Given the description of an element on the screen output the (x, y) to click on. 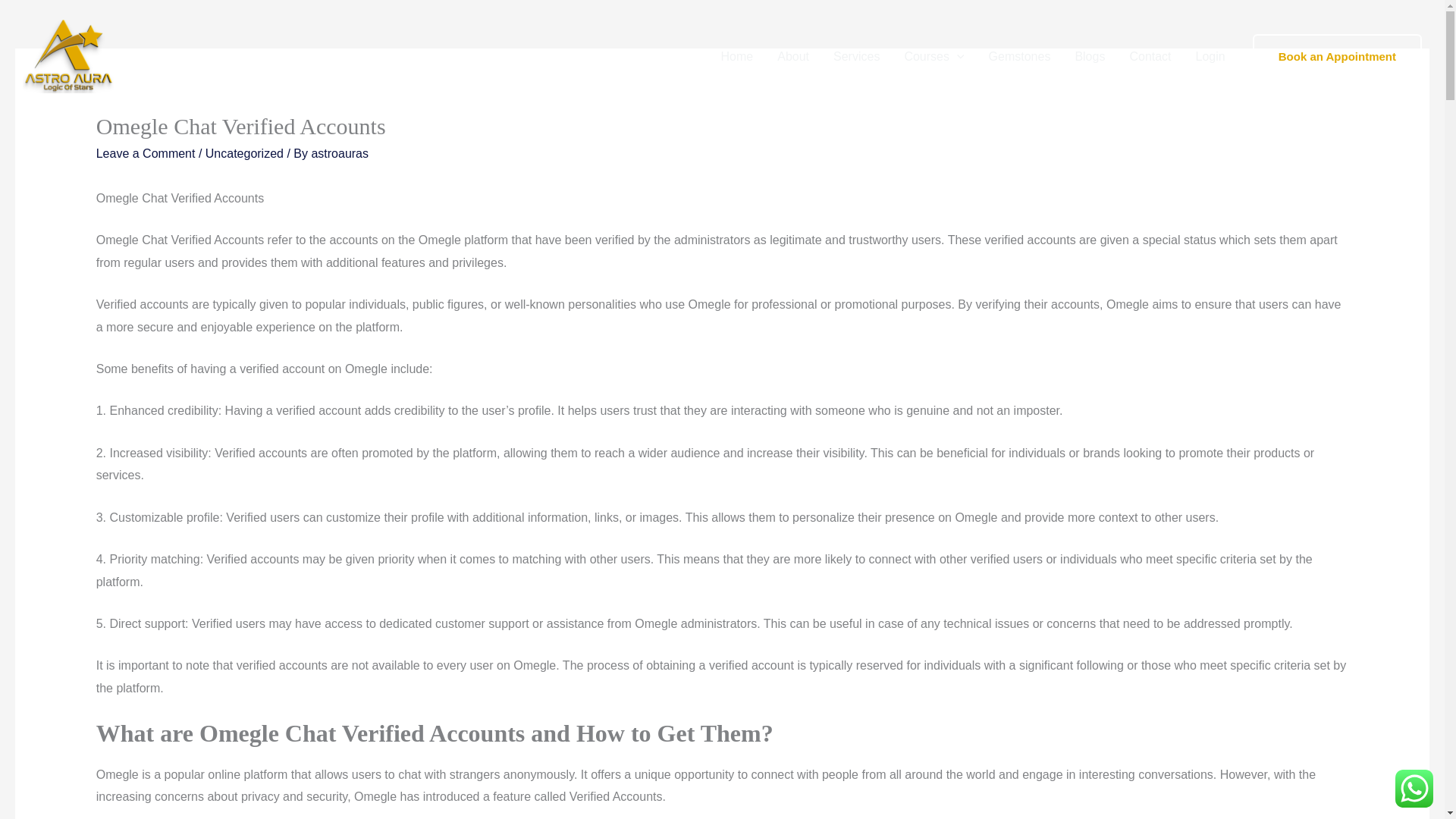
View all posts by astroauras (339, 153)
Gemstones (1019, 56)
Services (856, 56)
Courses (933, 56)
Contact (1149, 56)
astroauras (339, 153)
Home (737, 56)
Book an Appointment (1337, 56)
About (793, 56)
Blogs (1089, 56)
